Given the description of an element on the screen output the (x, y) to click on. 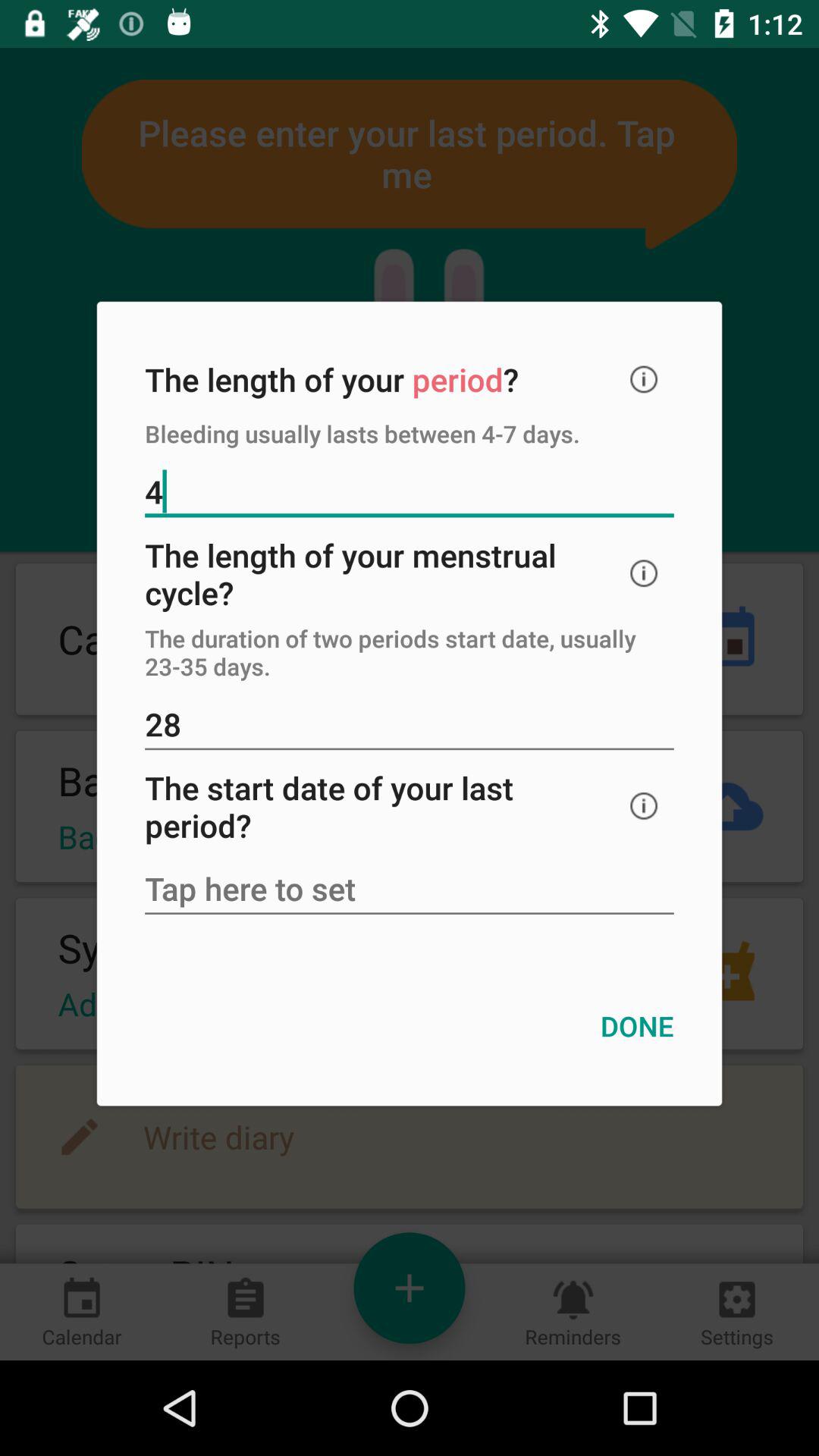
press icon below the the duration of icon (409, 726)
